Given the description of an element on the screen output the (x, y) to click on. 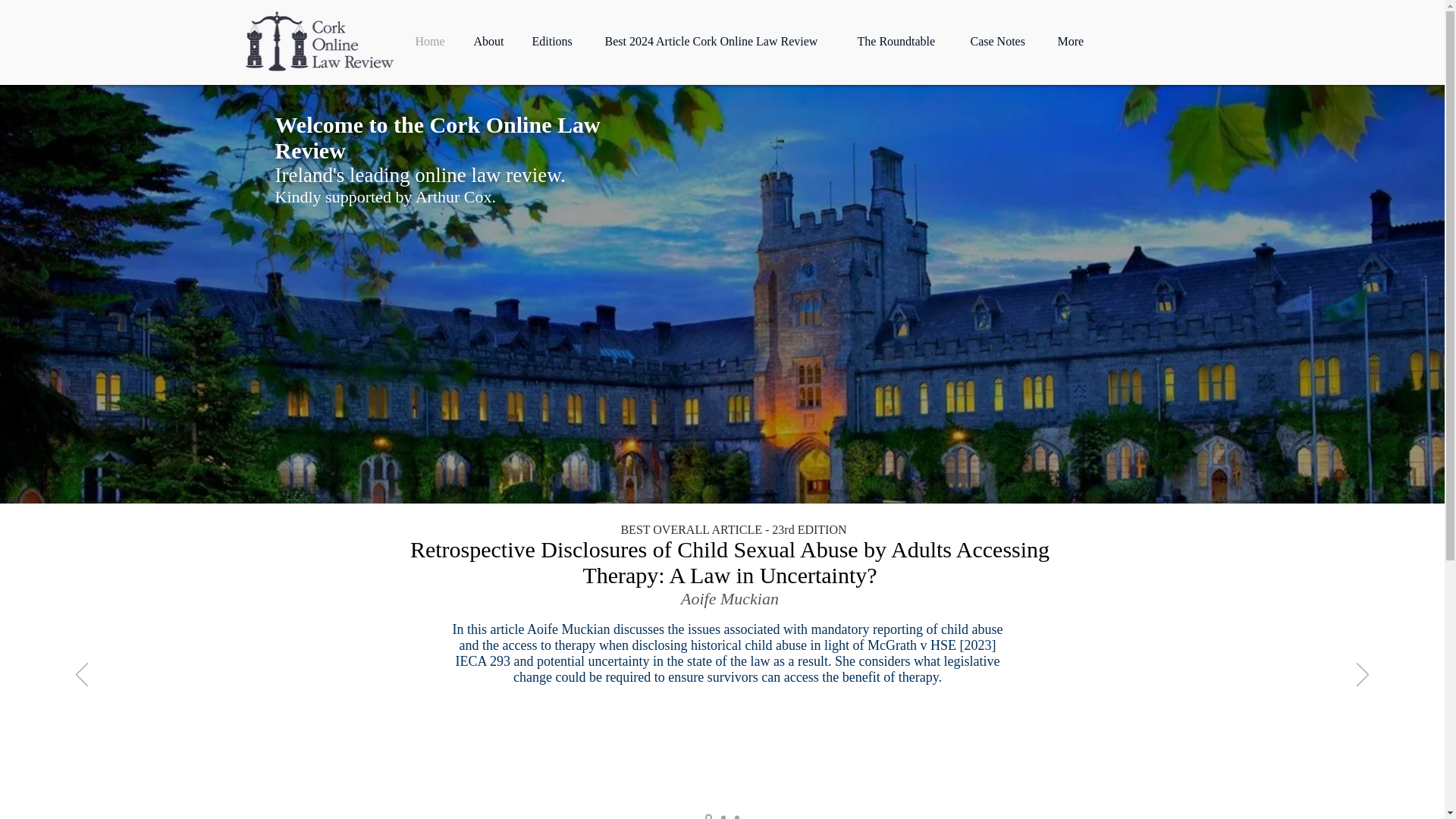
Aoife Muckian (729, 598)
Best 2024 Article Cork Online Law Review (718, 41)
 BEST OVERALL ARTICLE - 23rd EDITION (731, 529)
Case Notes (1001, 41)
Editions (555, 41)
Home (432, 41)
